Given the description of an element on the screen output the (x, y) to click on. 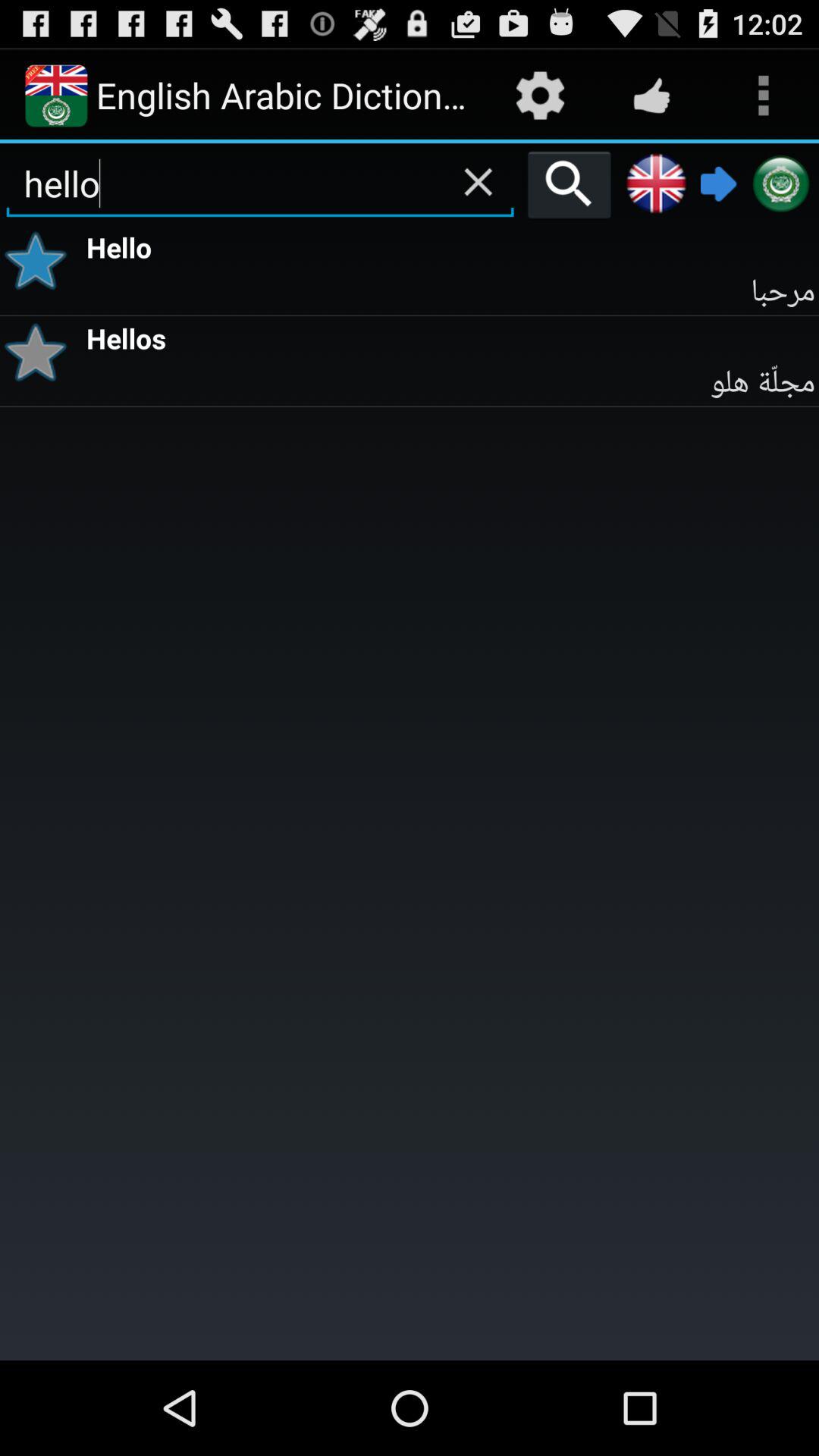
turn on icon to the left of hello item (41, 260)
